Given the description of an element on the screen output the (x, y) to click on. 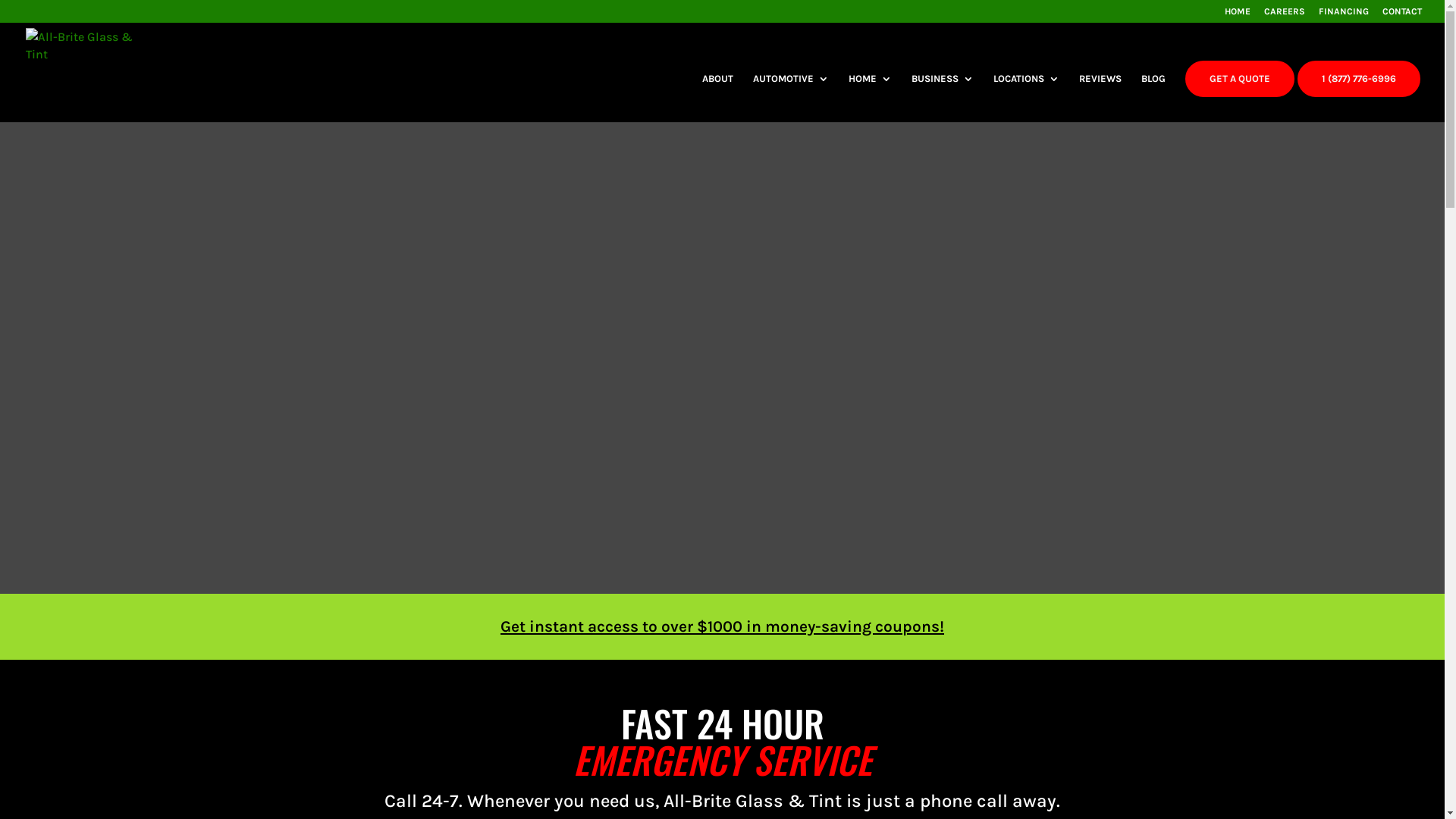
BLOG Element type: text (1153, 97)
LOCATIONS Element type: text (1026, 97)
BUSINESS Element type: text (942, 97)
HOME Element type: text (869, 97)
1 (877) 776-6996 Element type: text (1358, 78)
REVIEWS Element type: text (1100, 97)
CONTACT Element type: text (1401, 14)
AUTOMOTIVE Element type: text (790, 97)
FINANCING Element type: text (1343, 14)
ABOUT Element type: text (717, 97)
GET A QUOTE Element type: text (1239, 78)
HOME Element type: text (1237, 14)
CAREERS Element type: text (1284, 14)
